Given the description of an element on the screen output the (x, y) to click on. 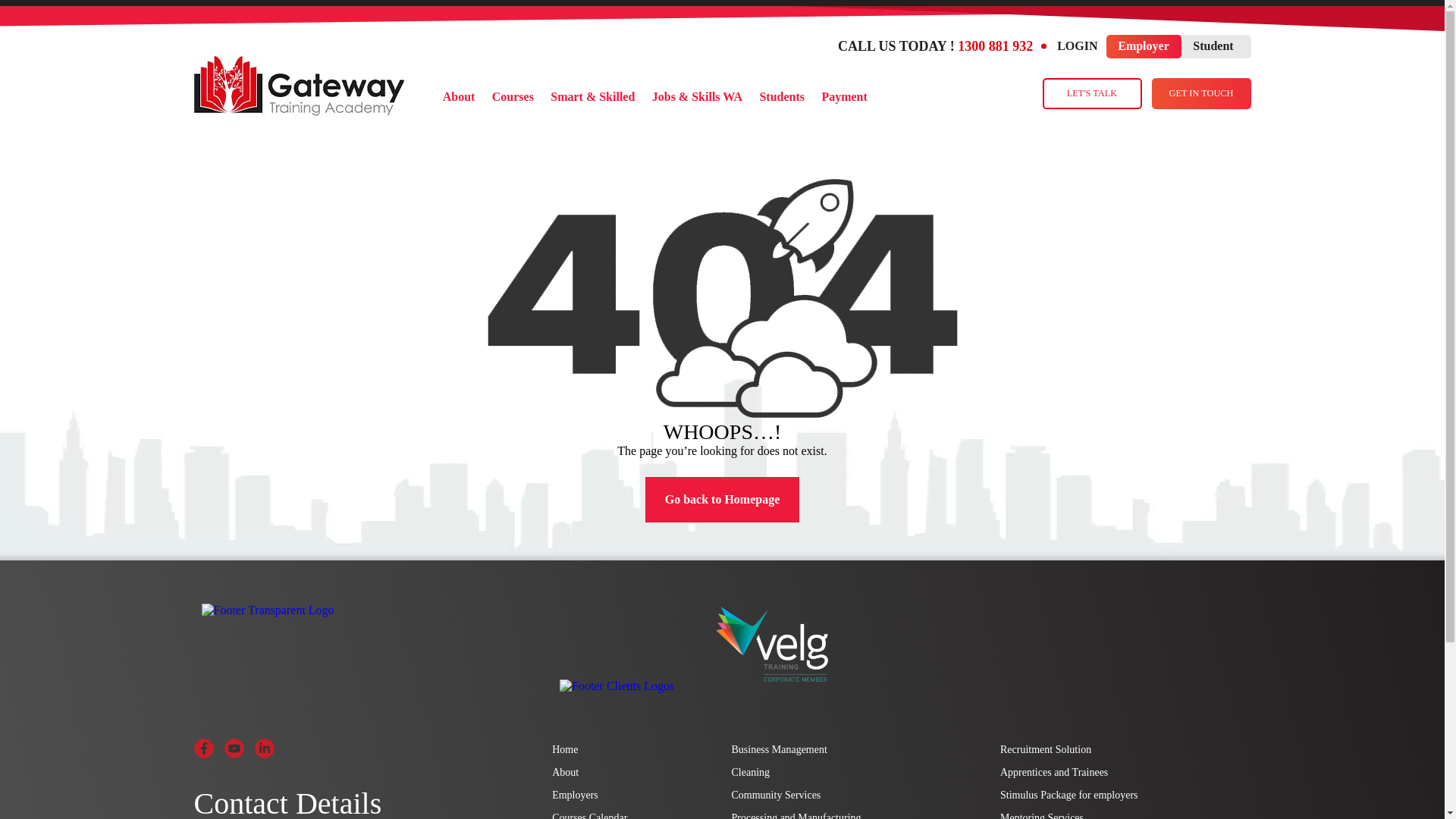
Business Management Element type: text (778, 749)
Go back to Homepage Element type: text (722, 499)
About Element type: text (565, 772)
GET IN TOUCH Element type: text (1200, 93)
Payment Element type: text (843, 96)
About Element type: text (458, 96)
Apprentices and Trainees Element type: text (1053, 772)
Smart & Skilled Element type: text (592, 96)
CALL US TODAY ! 1300 881 932 Element type: text (941, 46)
LET'S TALK Element type: text (1091, 93)
Cleaning Element type: text (750, 772)
Home Element type: text (564, 749)
Courses Element type: text (512, 96)
Employer Element type: text (1142, 46)
Stimulus Package for employers Element type: text (1069, 795)
Student Element type: text (1212, 46)
Recruitment Solution Element type: text (1045, 749)
Community Services Element type: text (775, 795)
Students Element type: text (781, 96)
Jobs & Skills WA Element type: text (697, 96)
Employers Element type: text (575, 795)
